Given the description of an element on the screen output the (x, y) to click on. 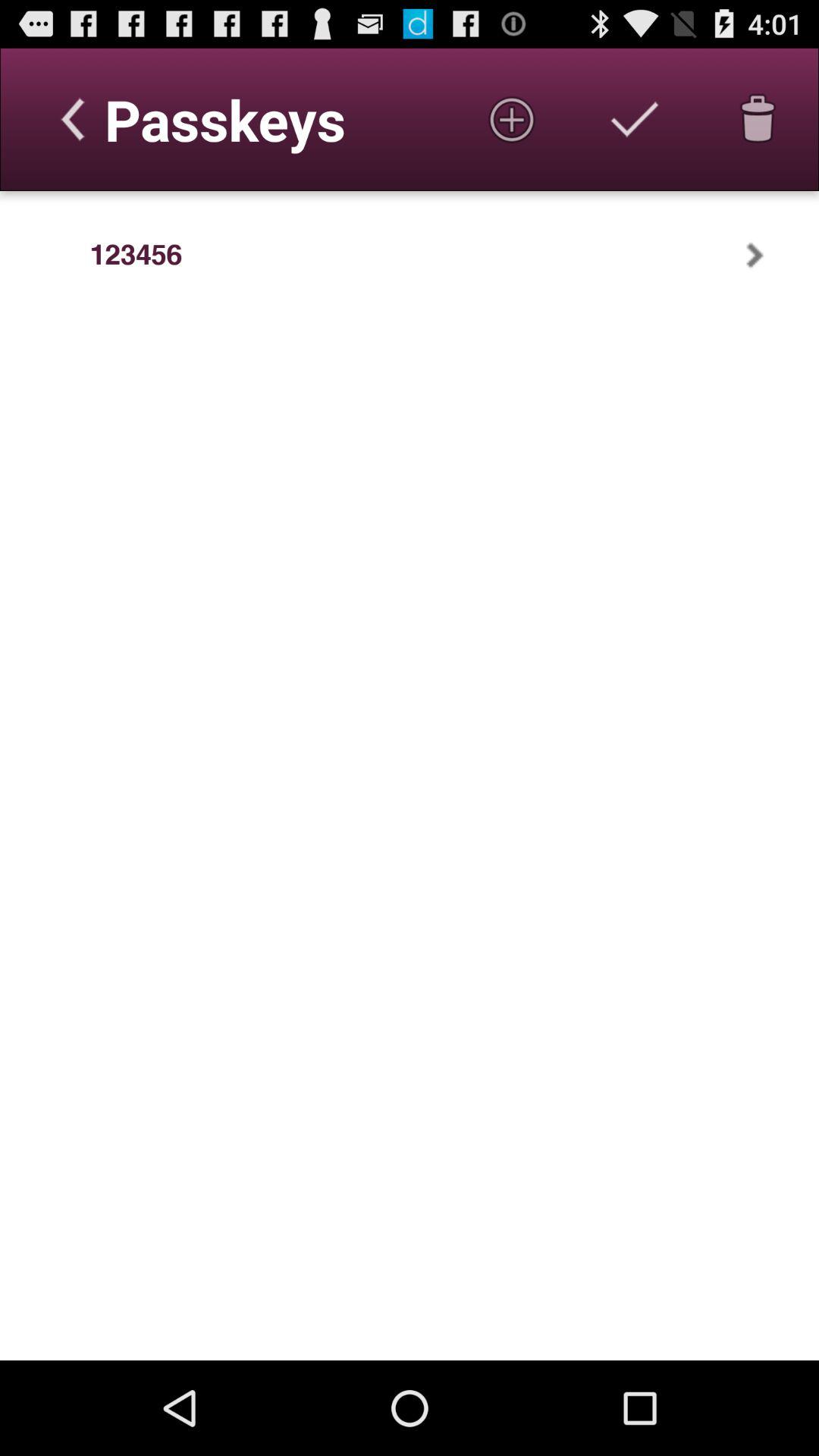
click the item to the left of the 123456 (44, 254)
